Given the description of an element on the screen output the (x, y) to click on. 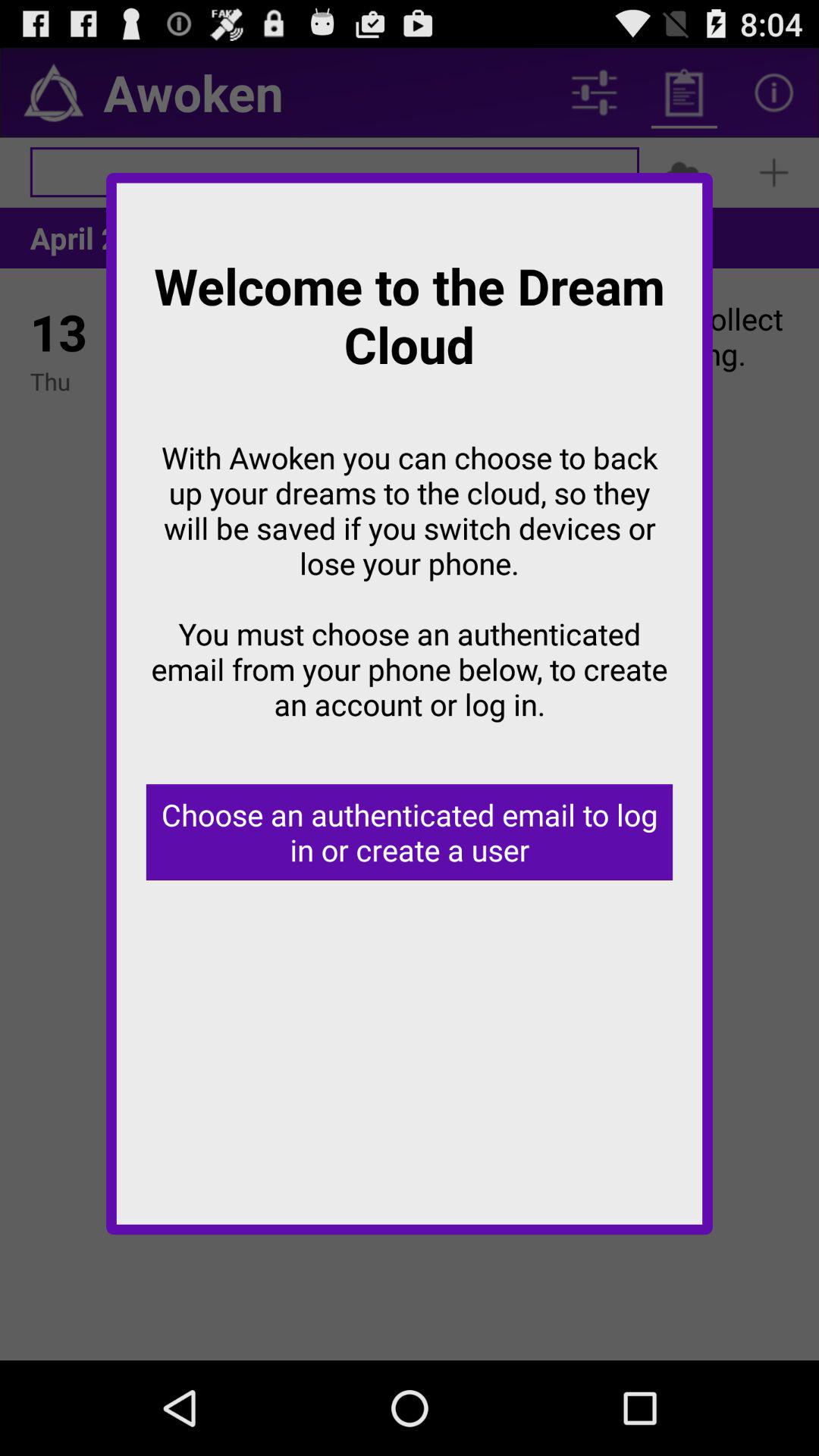
choose item below the with awoken you app (409, 832)
